Given the description of an element on the screen output the (x, y) to click on. 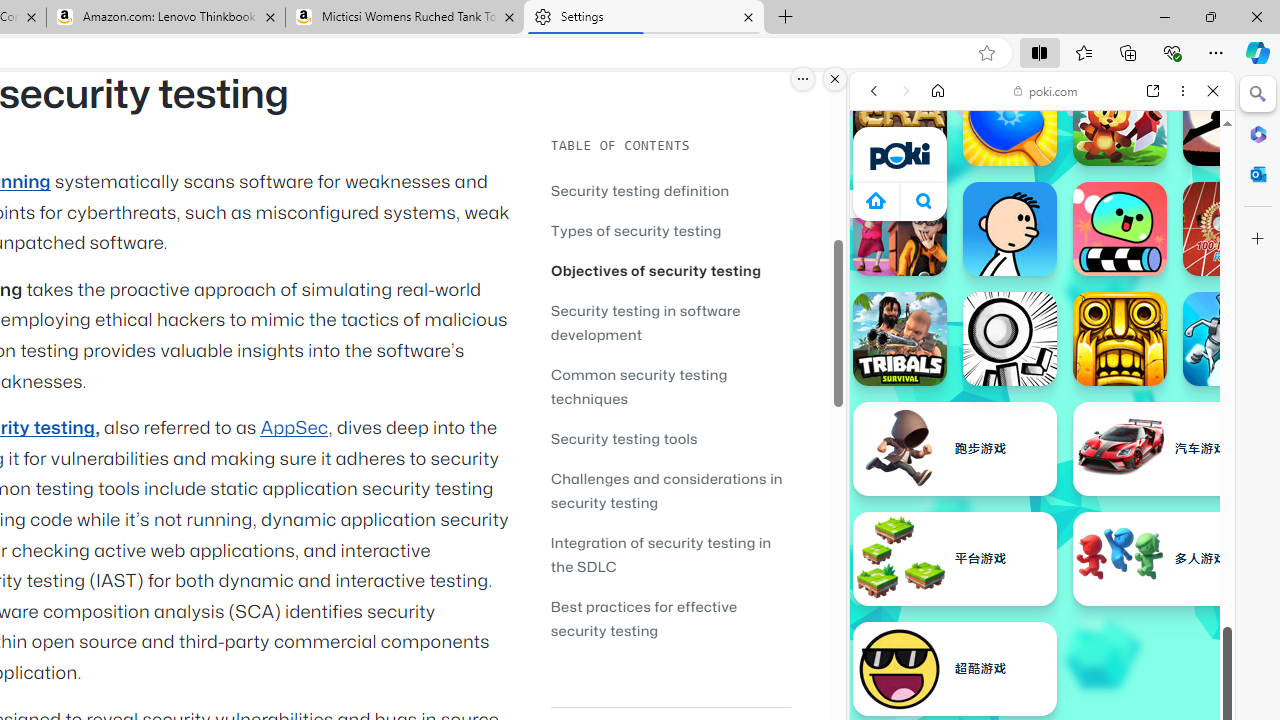
OvO Classic (1009, 338)
Security testing in software development (645, 321)
Poki - Free Online Games - Play Now! (1034, 309)
Two Player Games (1042, 568)
Era: Evolution Era: Evolution (899, 119)
Challenges and considerations in security testing (666, 490)
Fox Island Builder Fox Island Builder (1119, 119)
Best practices for effective security testing (644, 618)
Types of security testing (670, 230)
Show More Io Games (1164, 619)
